Given the description of an element on the screen output the (x, y) to click on. 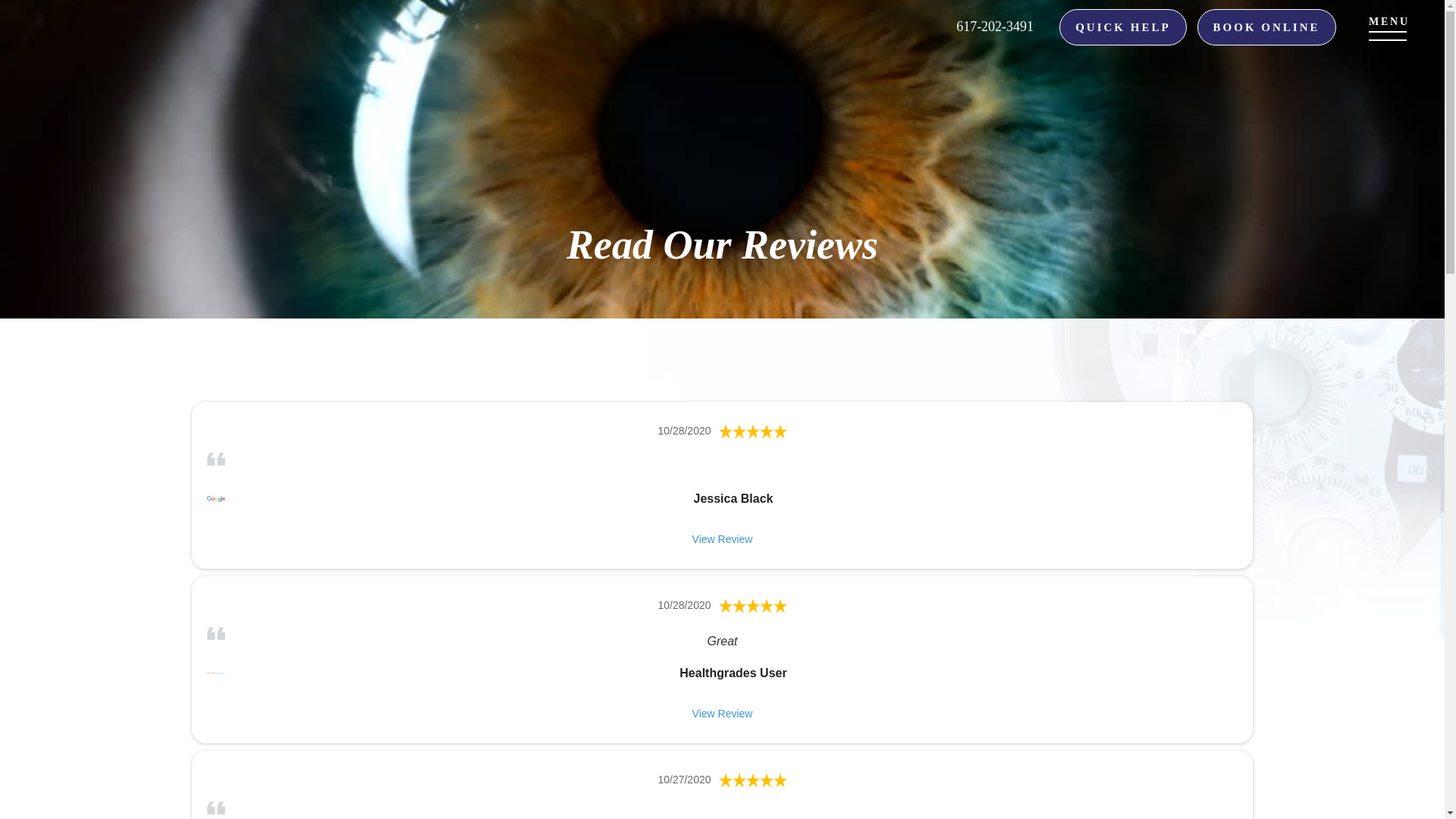
Google Business Profile (215, 498)
5 (753, 605)
5 (753, 431)
5 (753, 780)
MENU (1386, 27)
Healthgrades (215, 673)
